Given the description of an element on the screen output the (x, y) to click on. 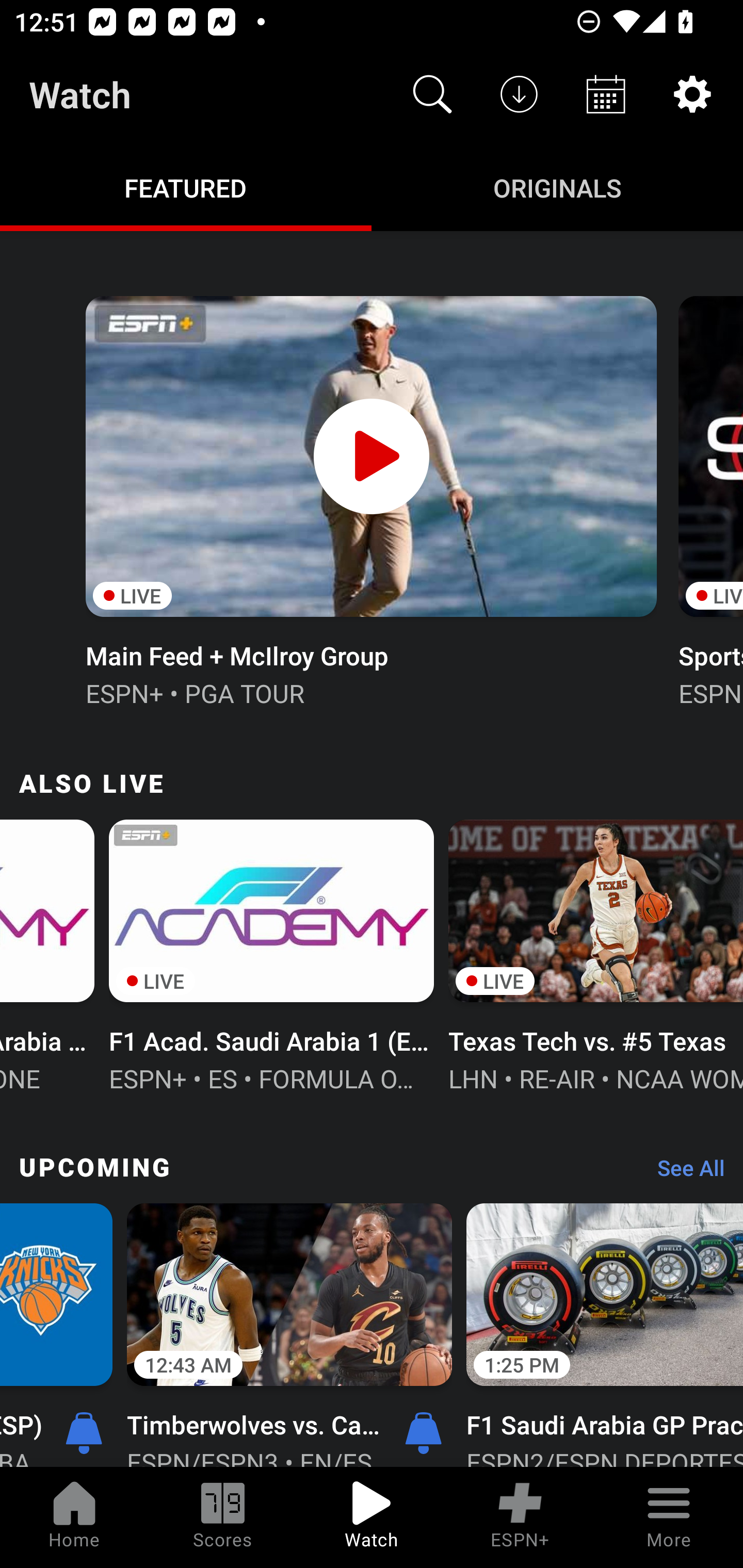
Search (432, 93)
Downloads (518, 93)
Schedule (605, 93)
Settings (692, 93)
Originals ORIGINALS (557, 187)
 LIVE Main Feed + McIlroy Group ESPN+ • PGA TOUR (370, 499)
See All (683, 1172)
Home (74, 1517)
Scores (222, 1517)
ESPN+ (519, 1517)
More (668, 1517)
